Given the description of an element on the screen output the (x, y) to click on. 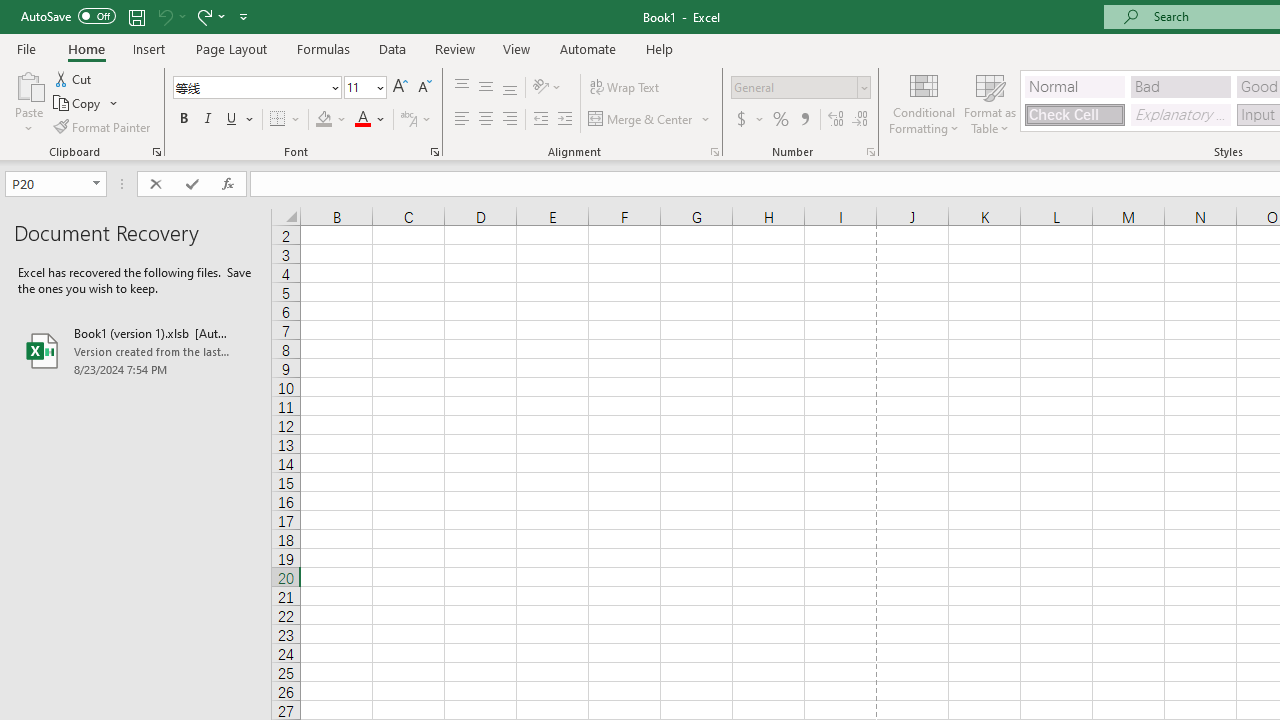
Underline (239, 119)
Fill Color RGB(255, 255, 0) (324, 119)
Show Phonetic Field (416, 119)
